Given the description of an element on the screen output the (x, y) to click on. 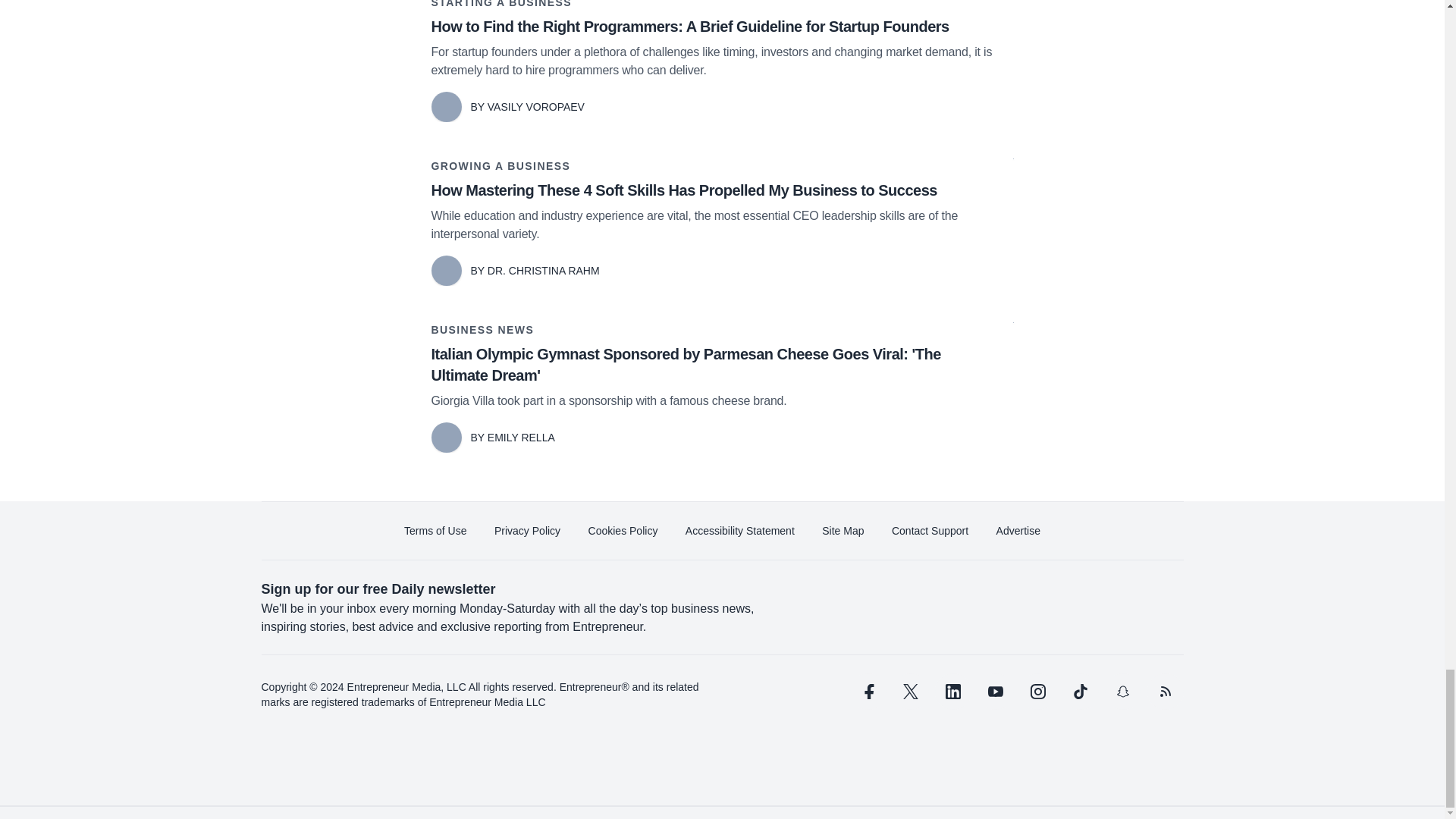
instagram (1037, 691)
youtube (994, 691)
tiktok (1079, 691)
twitter (909, 691)
snapchat (1121, 691)
facebook (866, 691)
linkedin (952, 691)
